Given the description of an element on the screen output the (x, y) to click on. 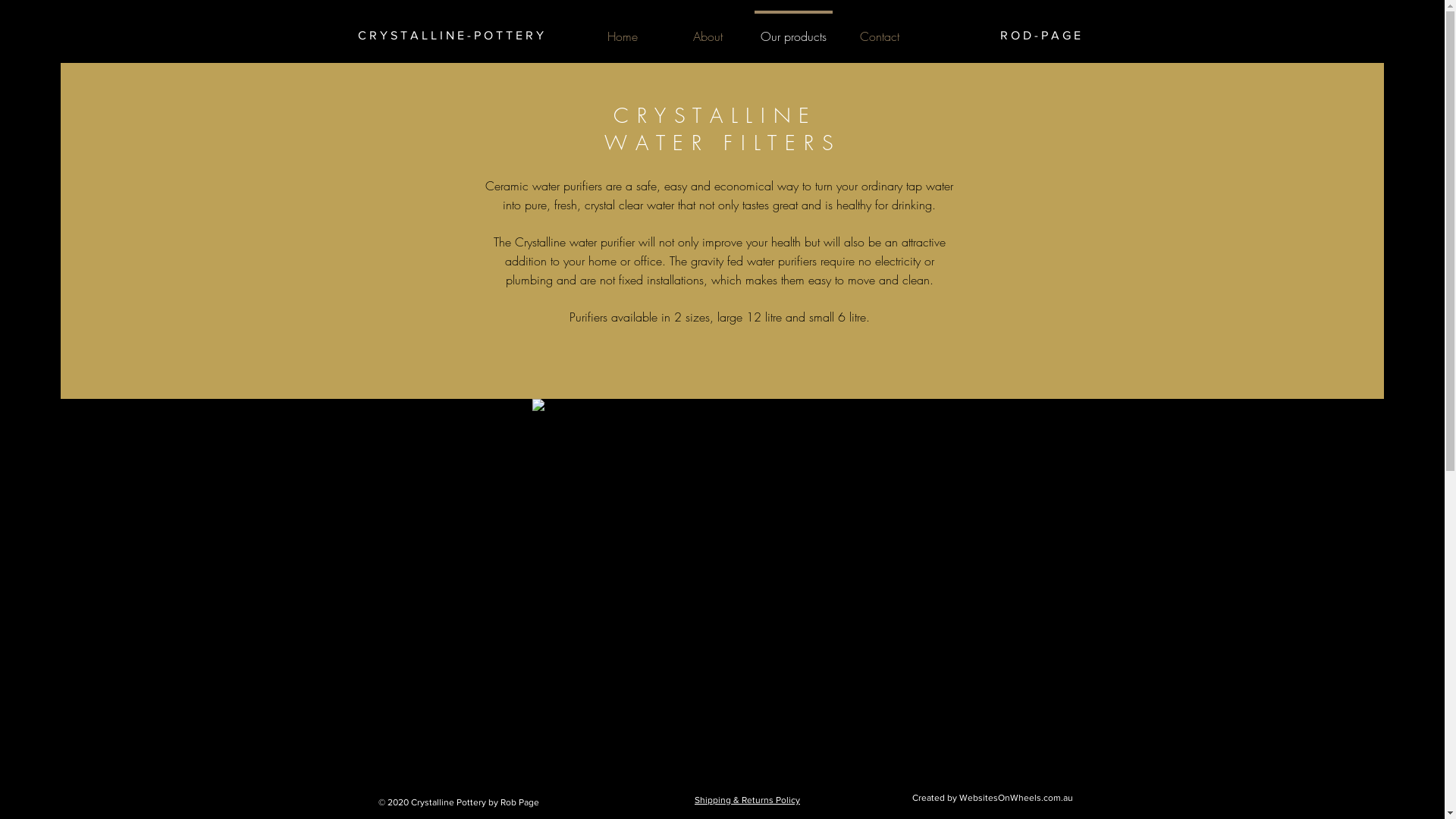
Contact Element type: text (879, 29)
Home Element type: text (622, 29)
Shipping & Returns Policy Element type: text (747, 799)
About Element type: text (707, 29)
Our products Element type: text (793, 29)
